Given the description of an element on the screen output the (x, y) to click on. 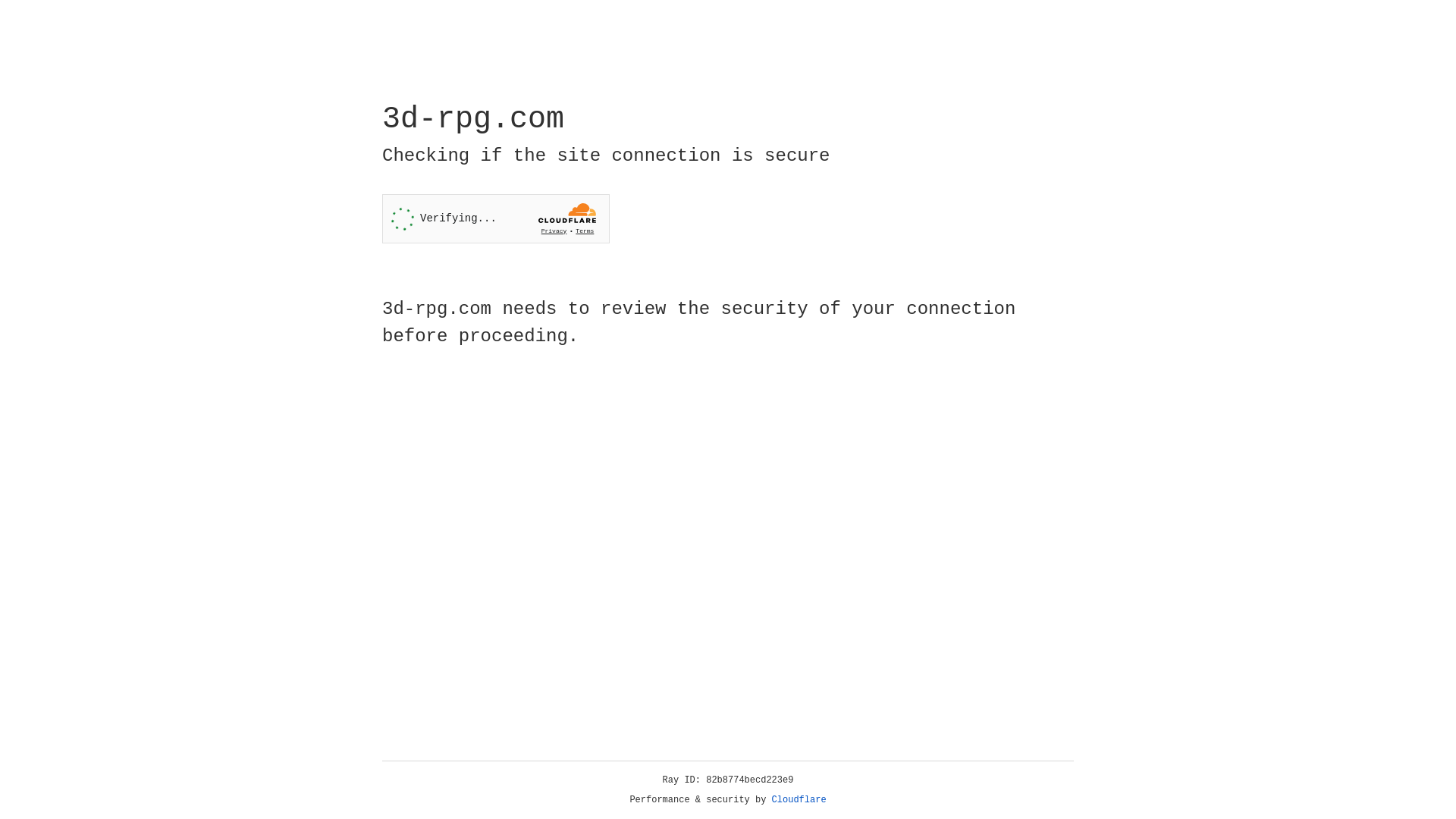
Widget containing a Cloudflare security challenge Element type: hover (495, 218)
Cloudflare Element type: text (798, 799)
